Given the description of an element on the screen output the (x, y) to click on. 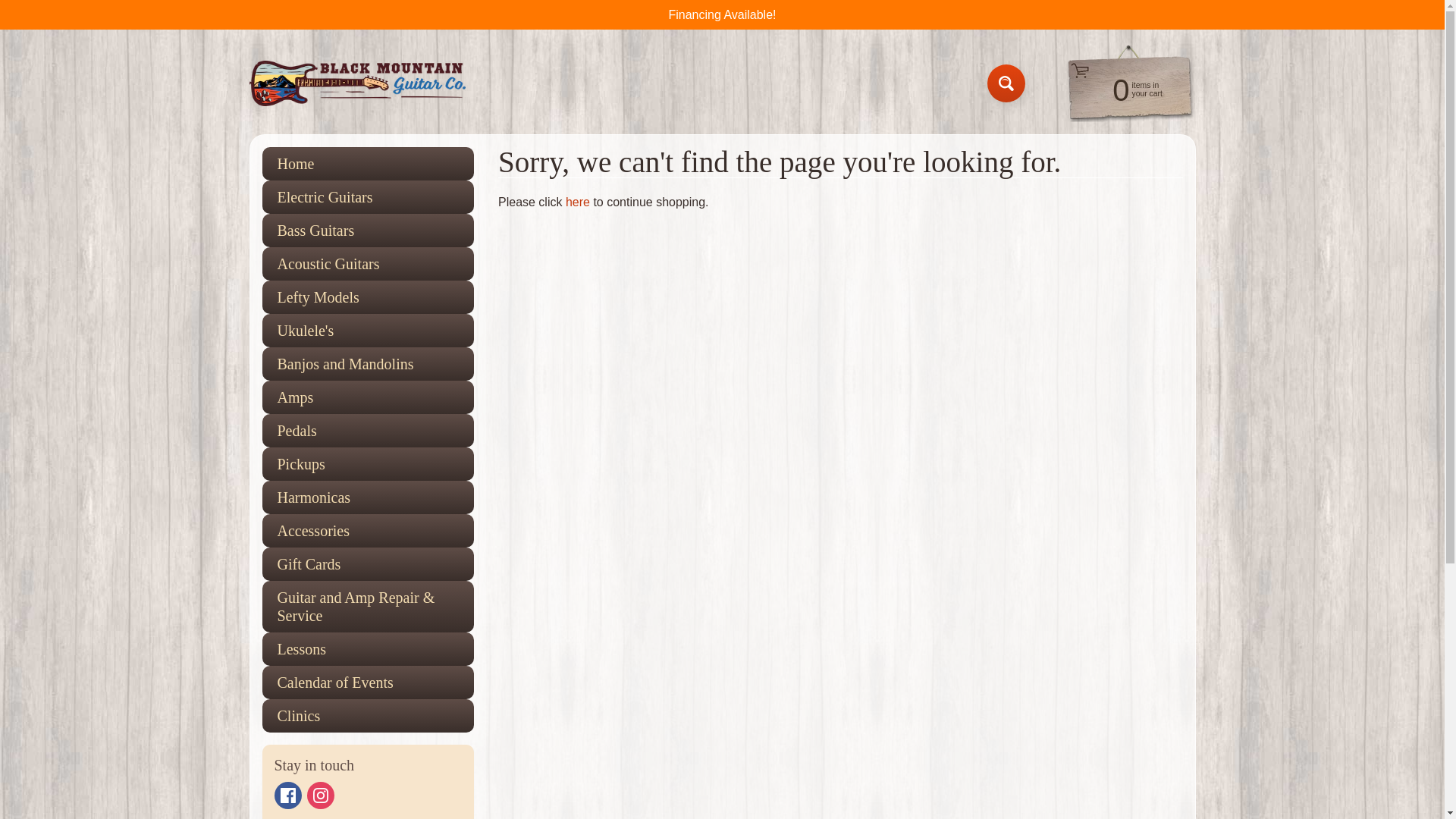
Instagram (320, 795)
Ukulele's (368, 330)
Calendar of Events (368, 682)
Lefty Models (368, 296)
Lessons (368, 648)
Harmonicas (368, 497)
Gift Cards (368, 563)
Home (368, 163)
Electric Guitars (368, 196)
Financing Available! (722, 14)
Clinics (368, 715)
Acoustic Guitars (368, 263)
here (577, 201)
Search (1122, 88)
